Given the description of an element on the screen output the (x, y) to click on. 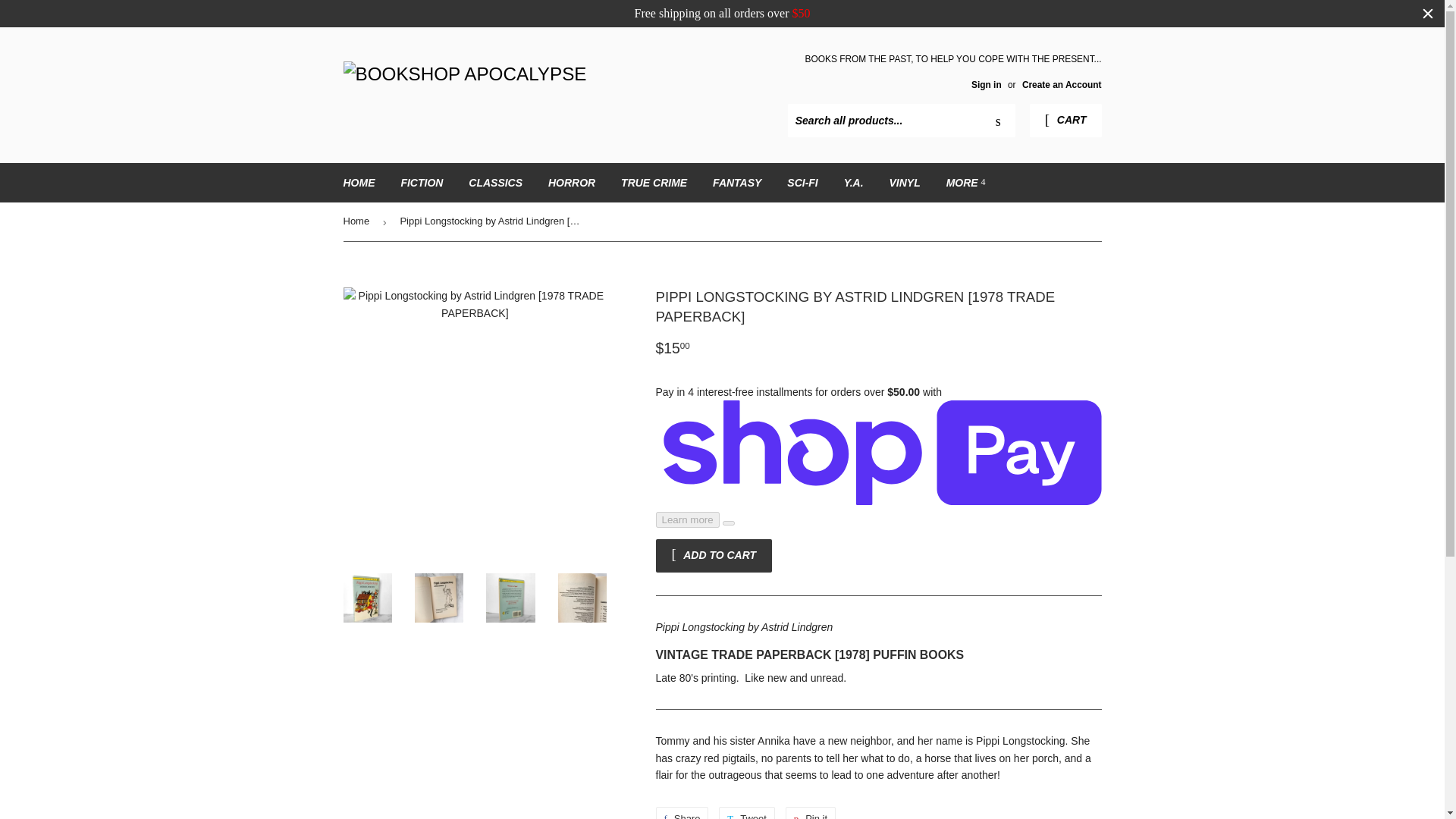
Pin on Pinterest (810, 812)
Create an Account (1062, 84)
Search (997, 121)
Sign in (986, 84)
Tweet on Twitter (746, 812)
HOME (359, 182)
CLASSICS (495, 182)
Share on Facebook (681, 812)
FICTION (421, 182)
CART (1065, 120)
